Given the description of an element on the screen output the (x, y) to click on. 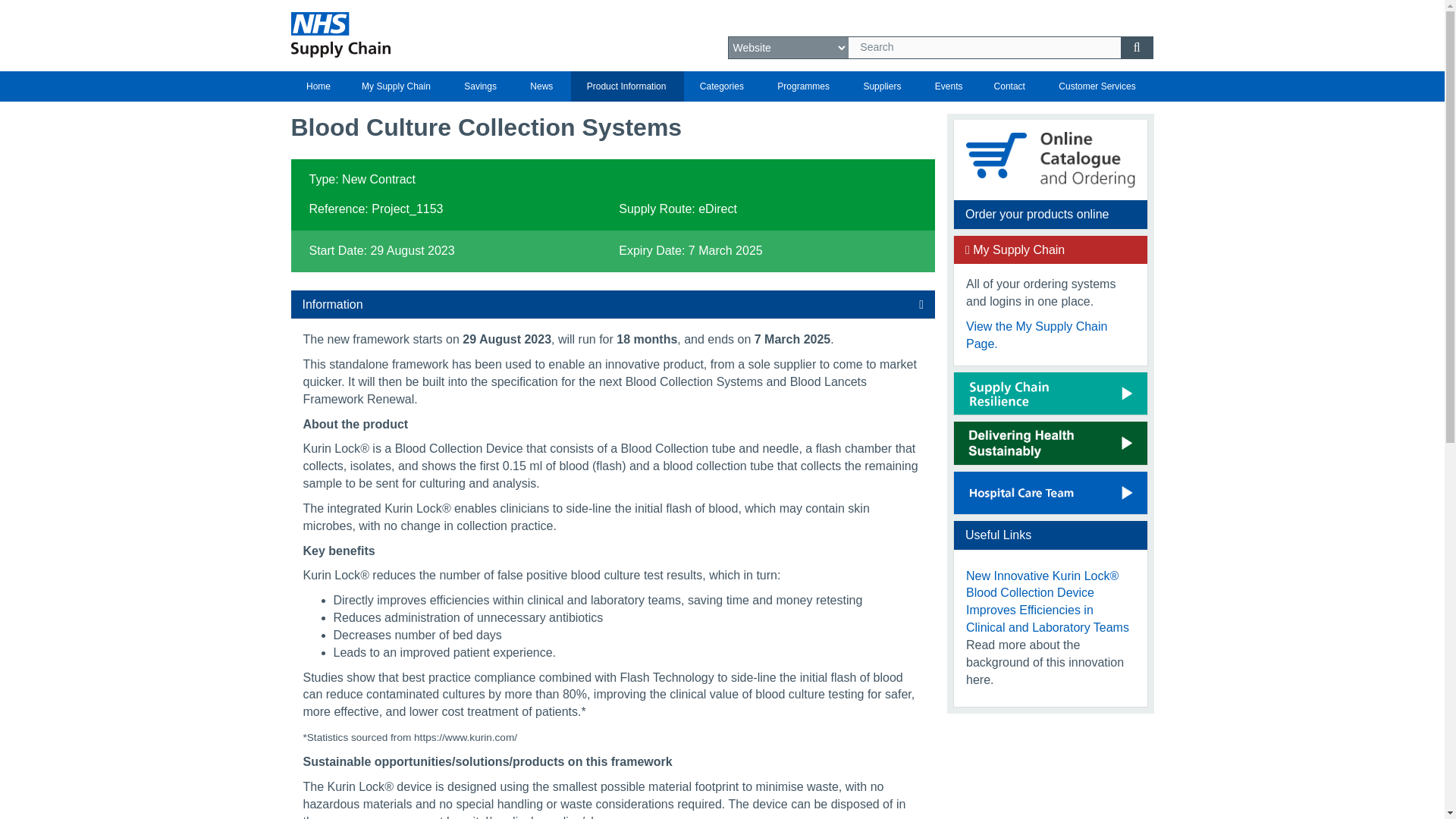
View the My Supply Chain Page (1036, 335)
Home (318, 86)
Click to view our Hospital Care Team contacts (1050, 492)
News  (542, 86)
Search (984, 47)
My Supply Chain  (397, 86)
View Our Supply Chain Resilience Pages (1050, 393)
Savings  (481, 86)
Sustainability-Button (1050, 442)
